Given the description of an element on the screen output the (x, y) to click on. 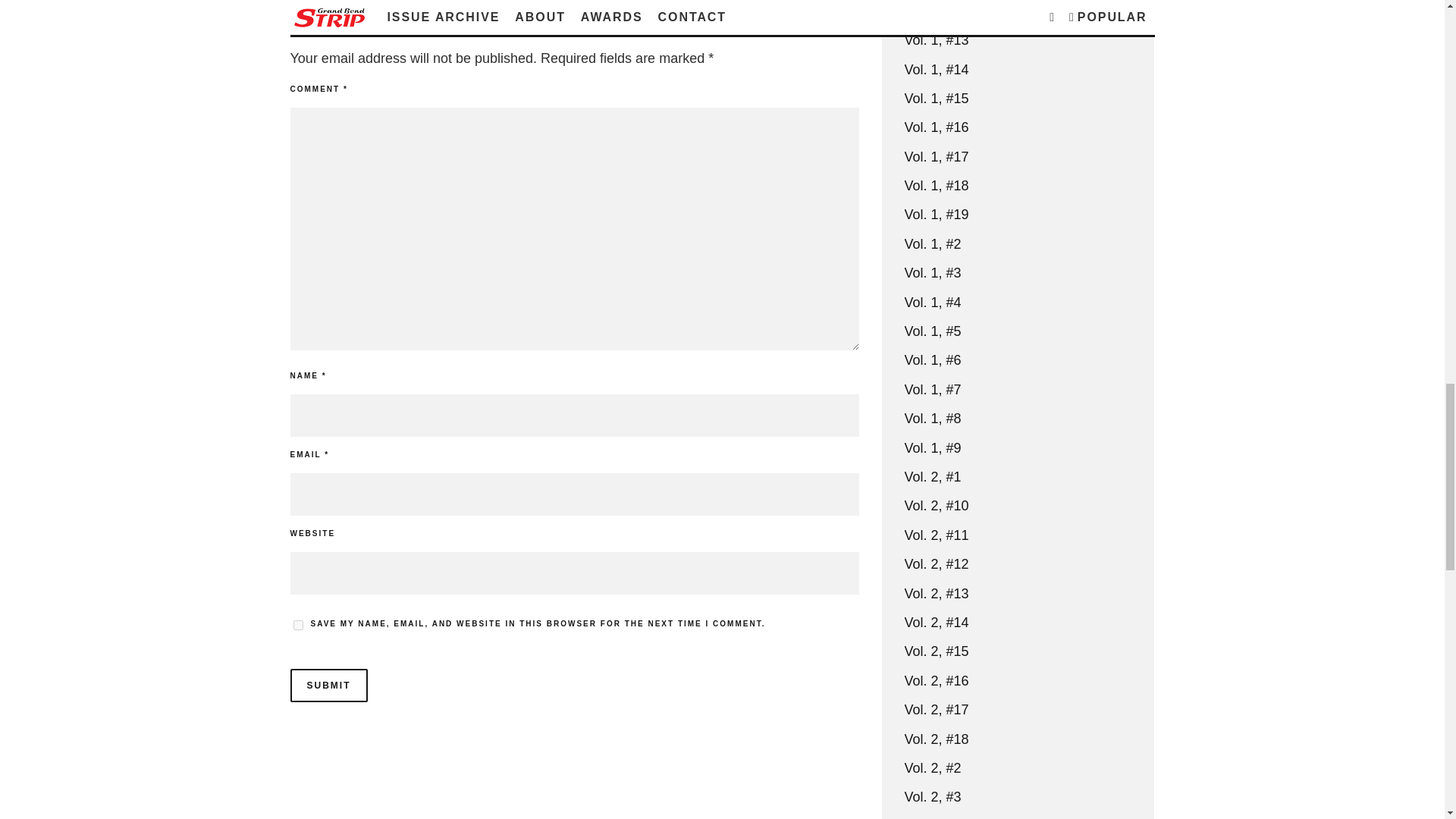
Submit (327, 685)
yes (297, 624)
Submit (327, 685)
